Given the description of an element on the screen output the (x, y) to click on. 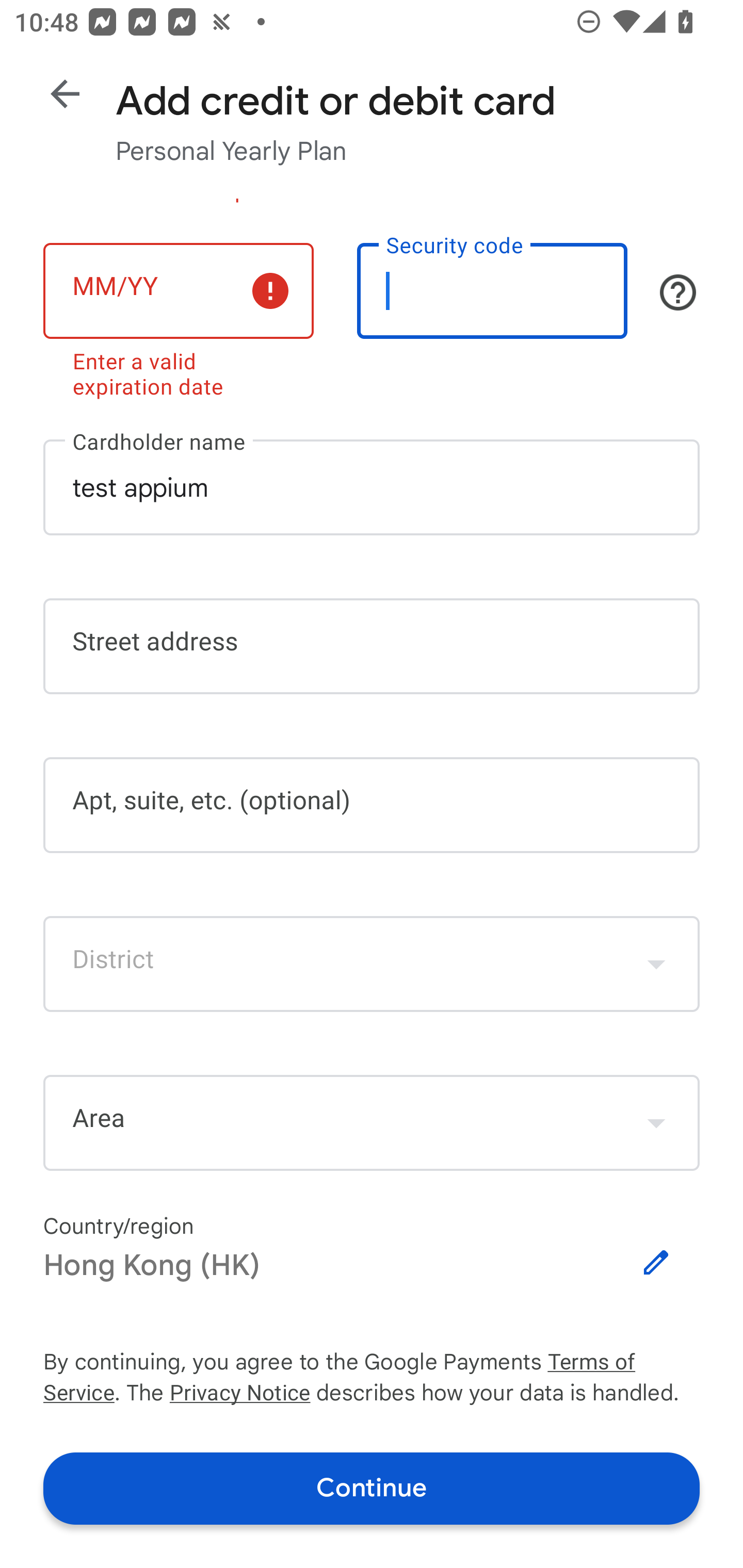
Back (64, 93)
Expiration date, 2 digit month, 2 digit year (178, 290)
Security code (492, 290)
Security code help (677, 292)
test appium (371, 486)
Street address (371, 646)
Apt, suite, etc. (optional) (371, 804)
District (371, 963)
Show dropdown menu (655, 963)
Area (371, 1123)
Show dropdown menu (655, 1122)
country edit button (655, 1262)
Terms of Service (623, 1362)
Privacy Notice (239, 1394)
Continue (371, 1487)
